Given the description of an element on the screen output the (x, y) to click on. 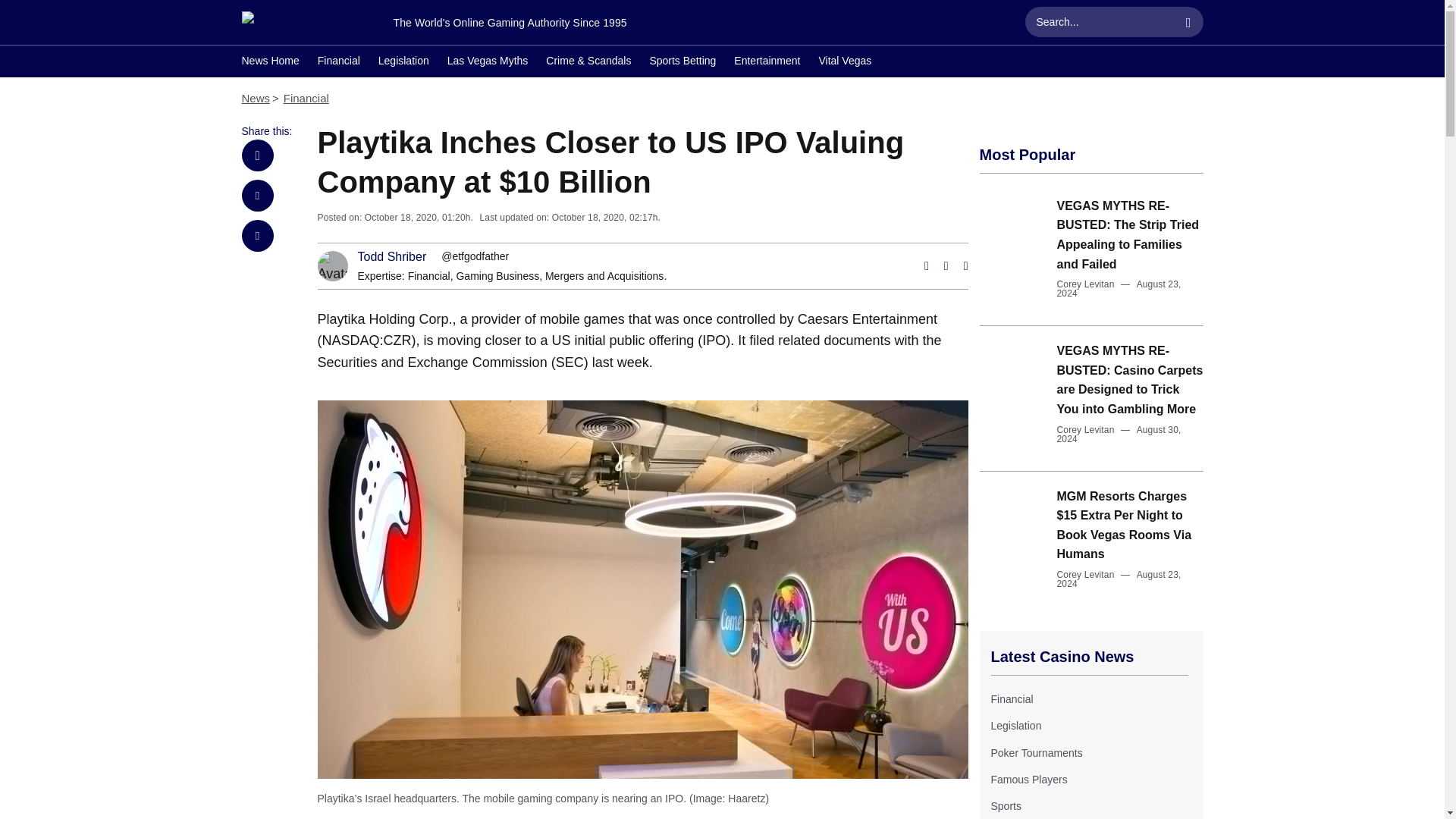
Legislation (403, 61)
Gaming Business (496, 275)
Entertainment (766, 61)
Todd Shriber (392, 256)
Financial (428, 275)
Corey Levitan (1086, 429)
News Home (269, 61)
Poker Tournaments (1035, 752)
Financial (338, 61)
